Given the description of an element on the screen output the (x, y) to click on. 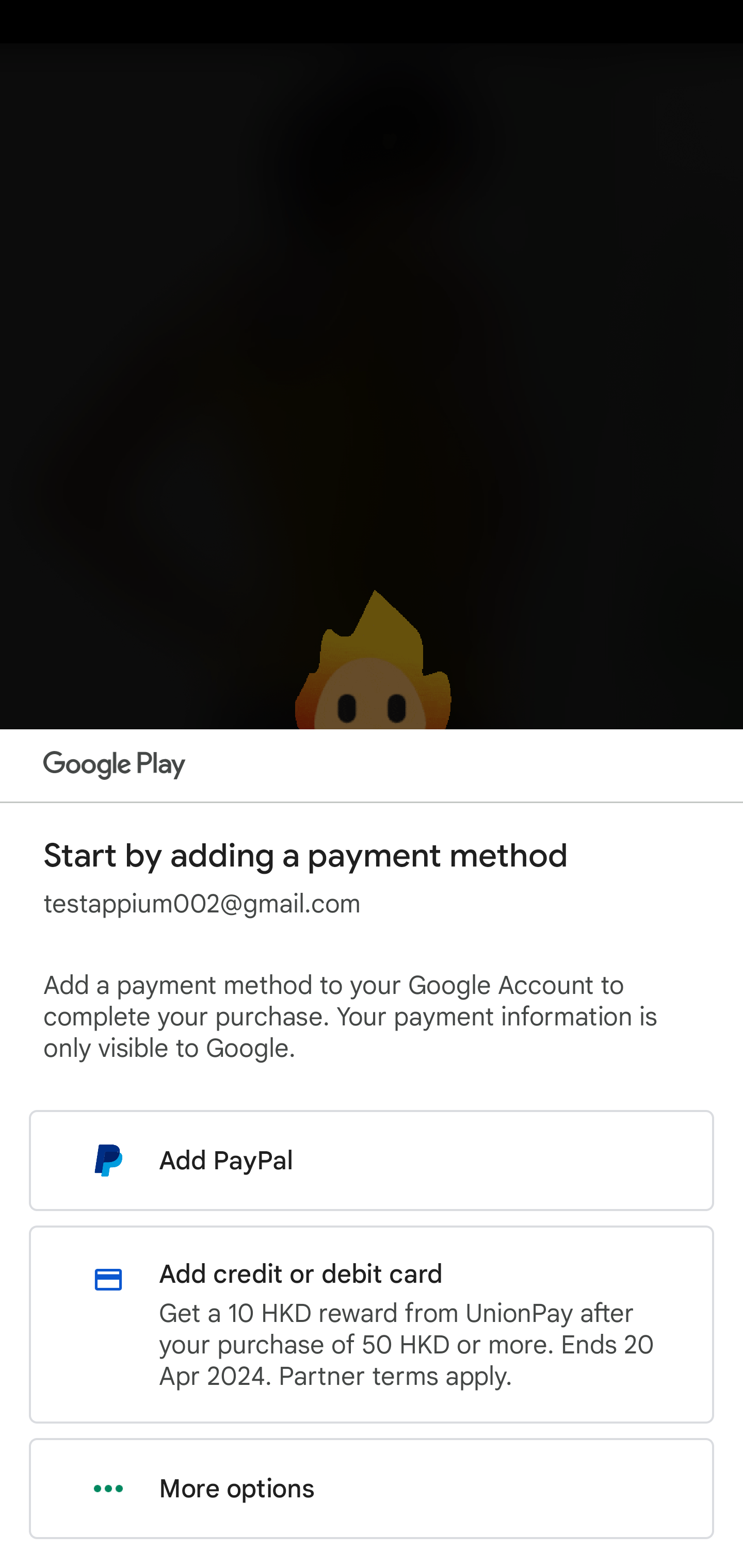
Add PayPal (371, 1160)
More options (371, 1488)
